Given the description of an element on the screen output the (x, y) to click on. 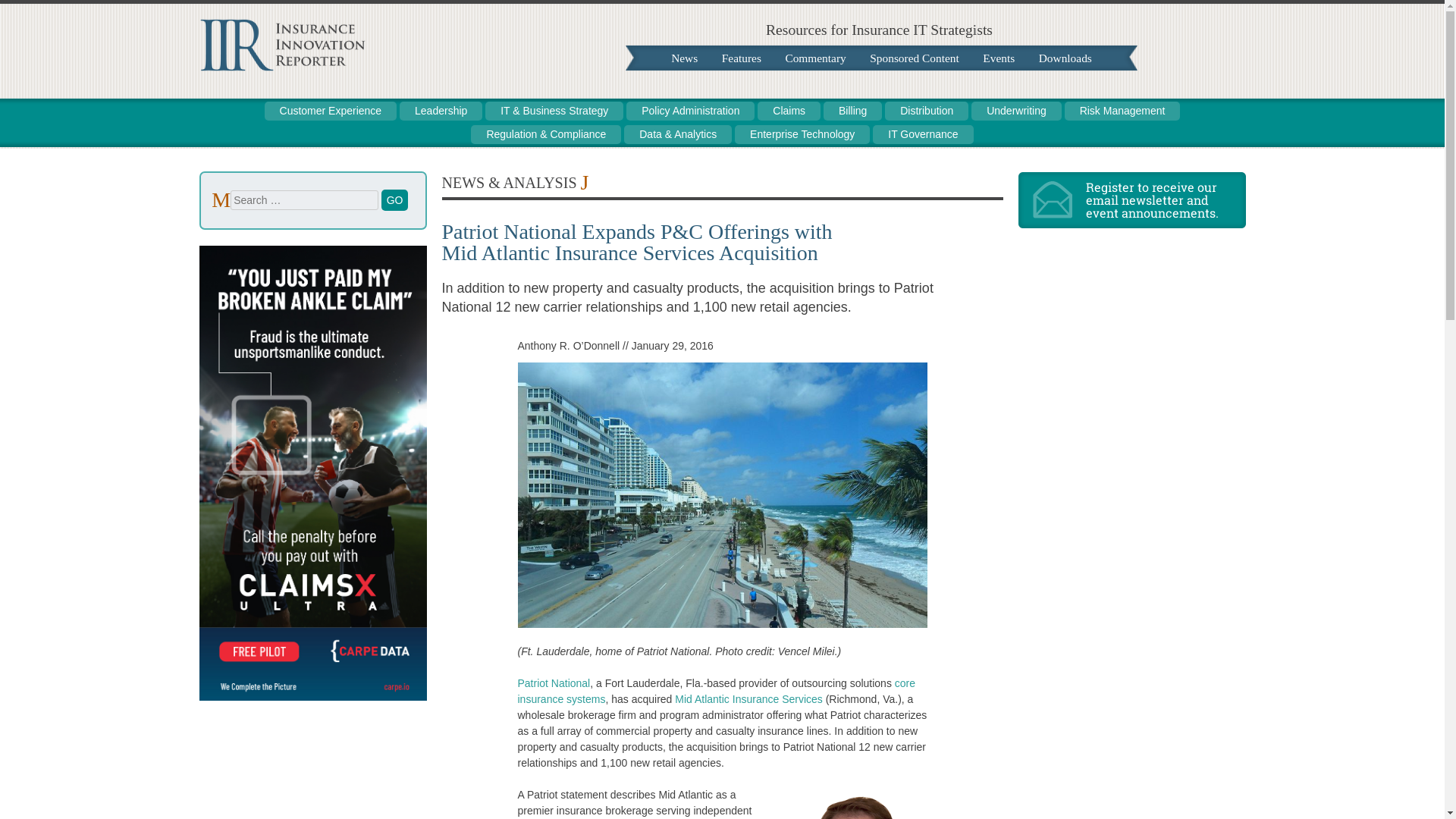
Insurance Innovation Reporter (281, 67)
Mid Atlantic Insurance Services (748, 698)
Features (741, 57)
Events (998, 57)
Commentary (815, 57)
Policy Administration (690, 110)
Skip to content (226, 109)
Sponsored Content (914, 57)
Customer Experience (330, 110)
core insurance systems (715, 691)
